Given the description of an element on the screen output the (x, y) to click on. 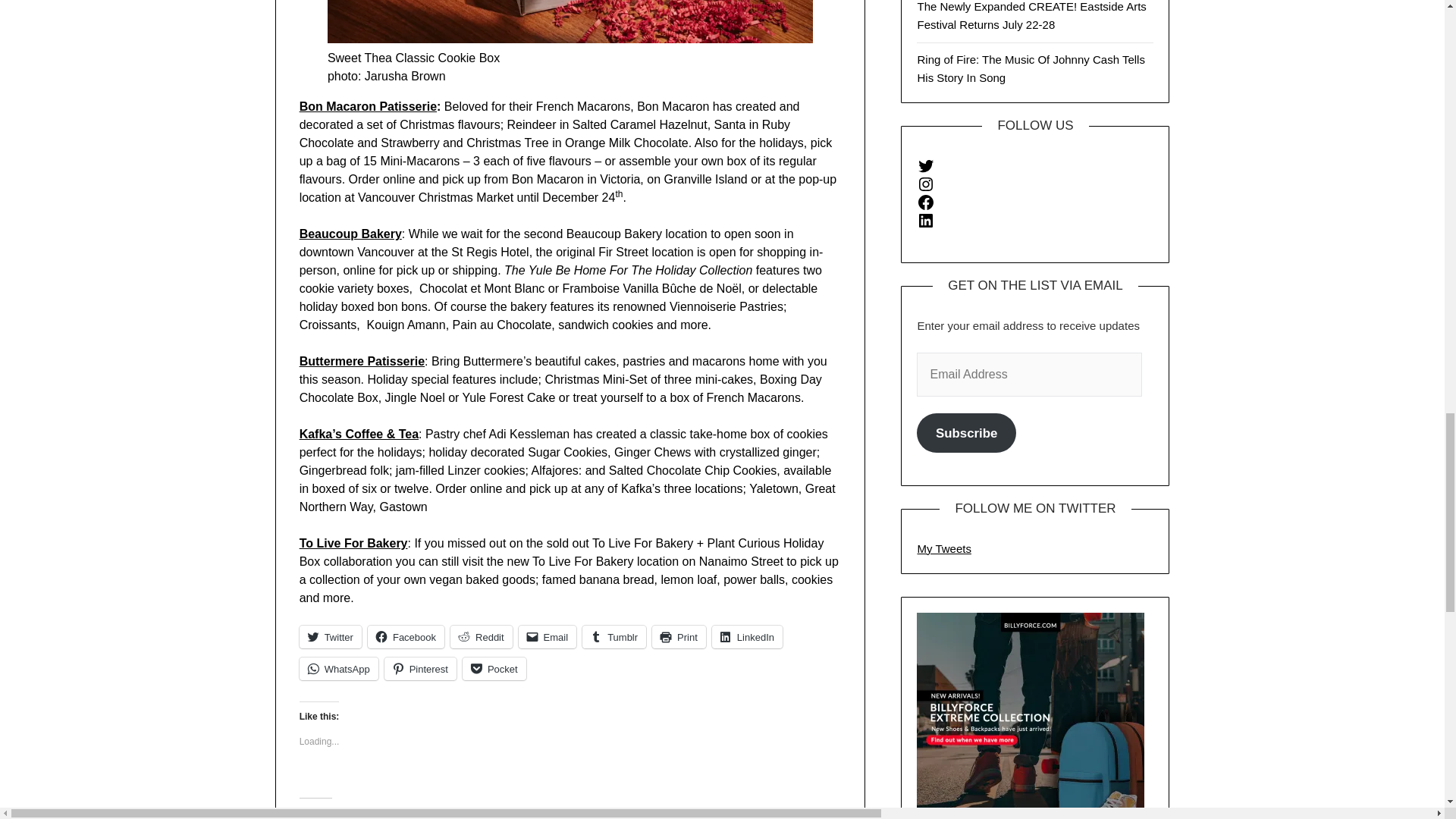
Click to share on Reddit (480, 636)
Click to share on Twitter (330, 636)
Print (679, 636)
Click to share on Tumblr (614, 636)
Click to share on Pinterest (420, 668)
Click to share on WhatsApp (338, 668)
Twitter (330, 636)
LinkedIn (747, 636)
Click to share on LinkedIn (747, 636)
Pocket (494, 668)
Click to email a link to a friend (547, 636)
Tumblr (614, 636)
Click to share on Pocket (494, 668)
To Live For Bakery (353, 543)
Reddit (480, 636)
